Given the description of an element on the screen output the (x, y) to click on. 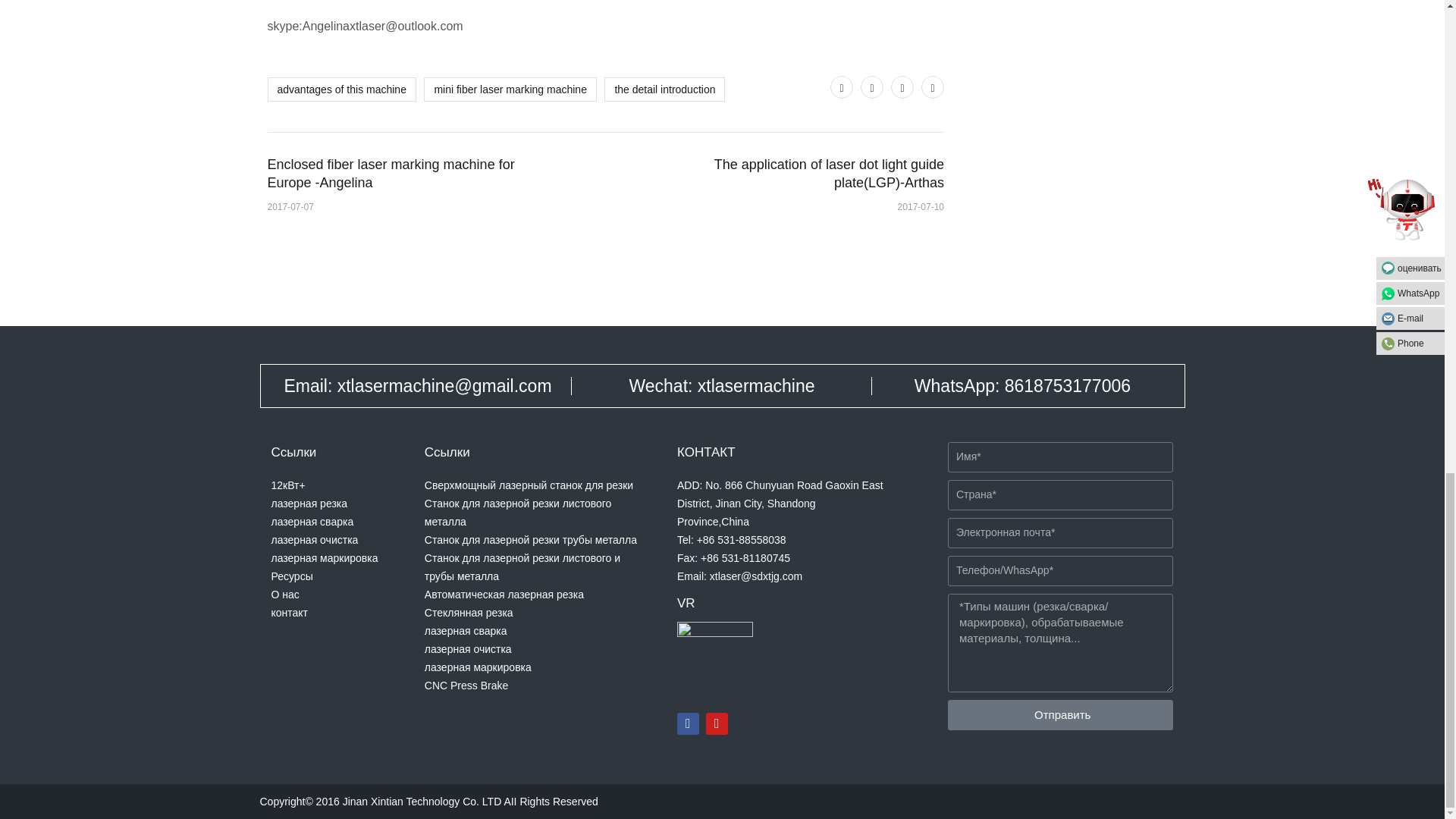
Pinterest (902, 87)
LinkedIn (932, 87)
Twitter (841, 87)
Facebook (871, 87)
